Given the description of an element on the screen output the (x, y) to click on. 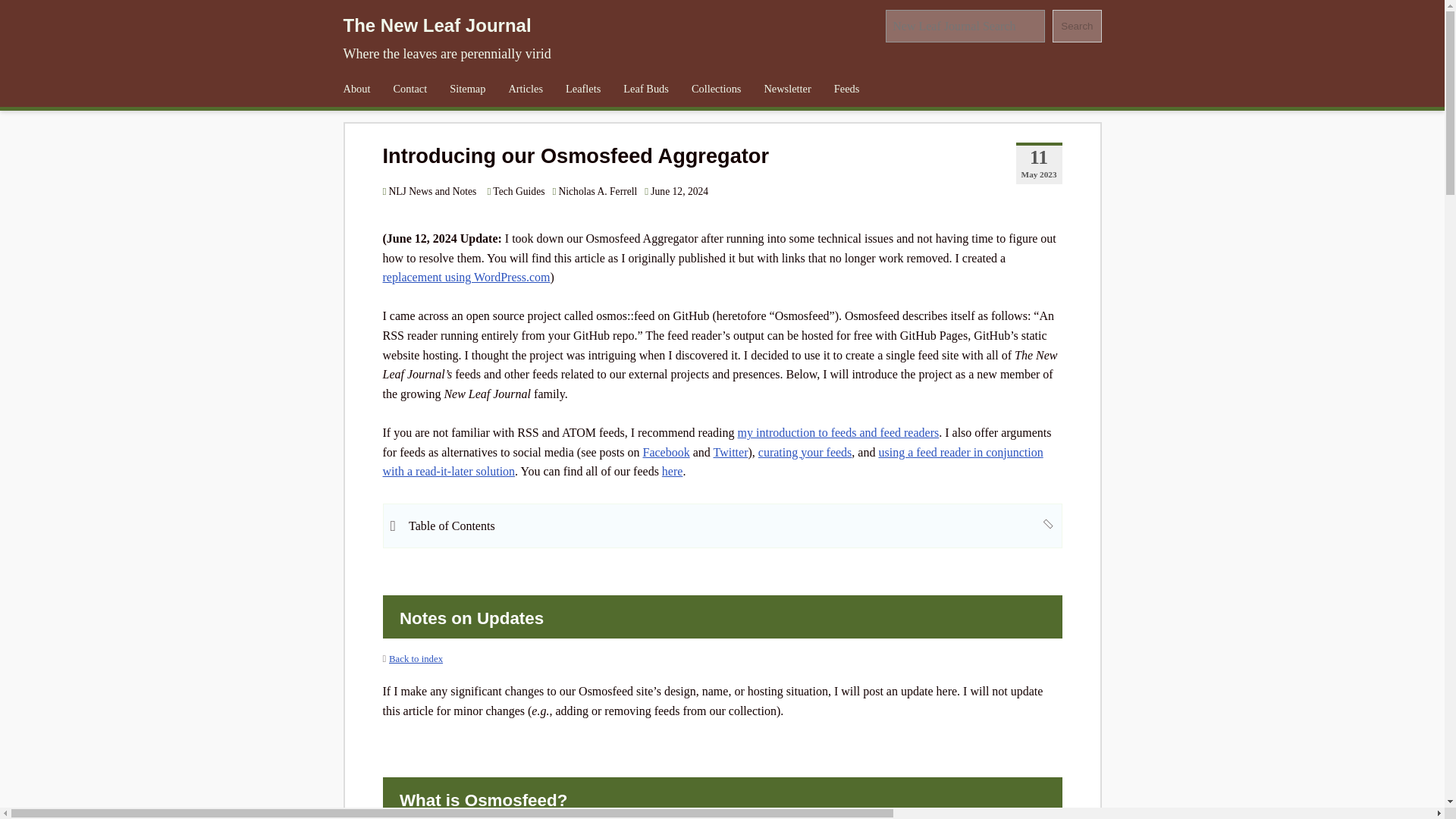
curating your feeds (804, 451)
Facebook (666, 451)
Contact (409, 89)
NLJ News and Notes (428, 191)
replacement using WordPress.com (465, 277)
The New Leaf Journal (436, 25)
The New Leaf Journal (436, 25)
Leaflets (582, 89)
my introduction to feeds and feed readers (838, 431)
